Given the description of an element on the screen output the (x, y) to click on. 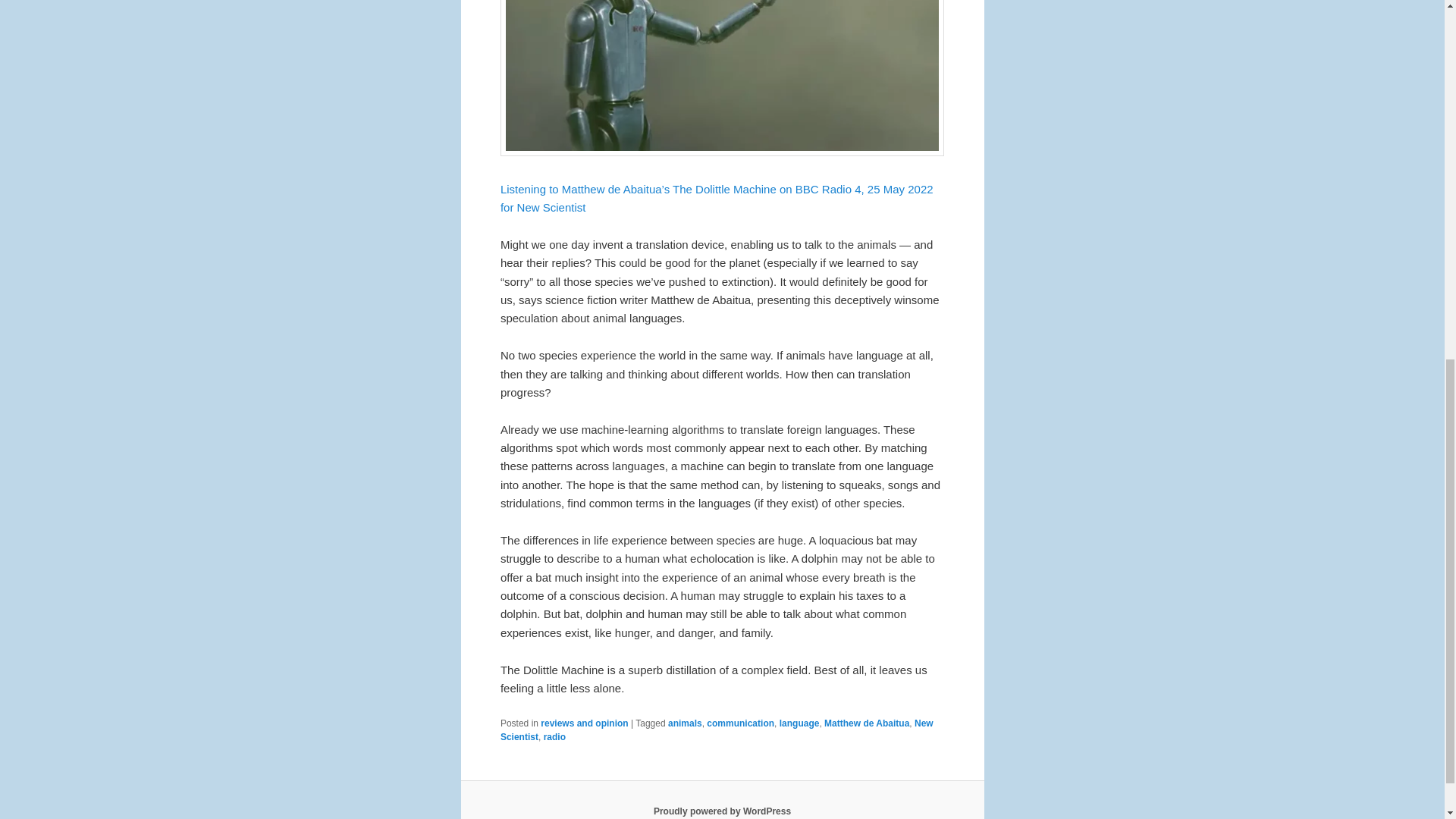
animals (684, 723)
communication (740, 723)
reviews and opinion (583, 723)
Semantic Personal Publishing Platform (721, 810)
